Given the description of an element on the screen output the (x, y) to click on. 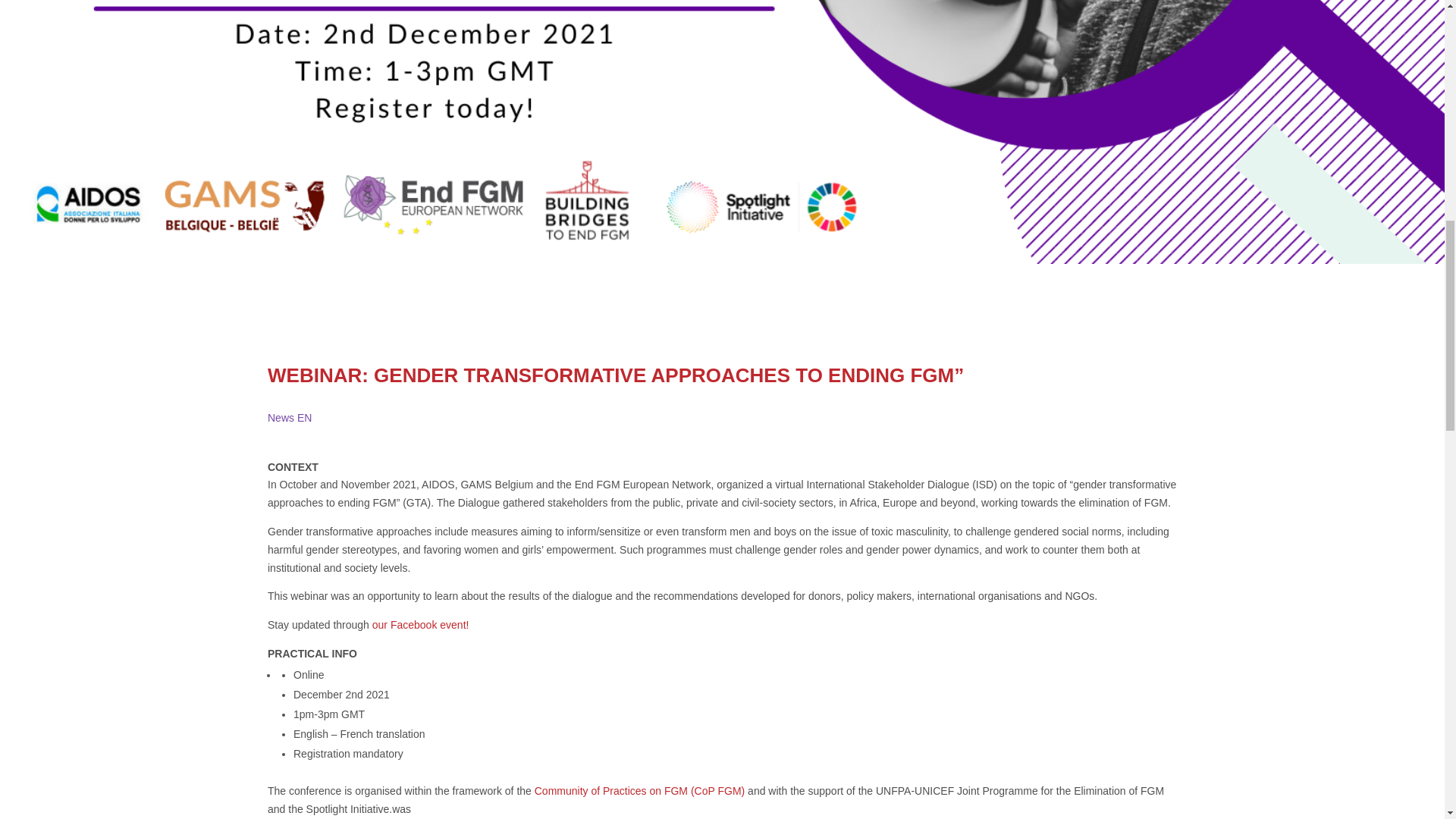
our Facebook event! (420, 624)
News EN (289, 417)
